Given the description of an element on the screen output the (x, y) to click on. 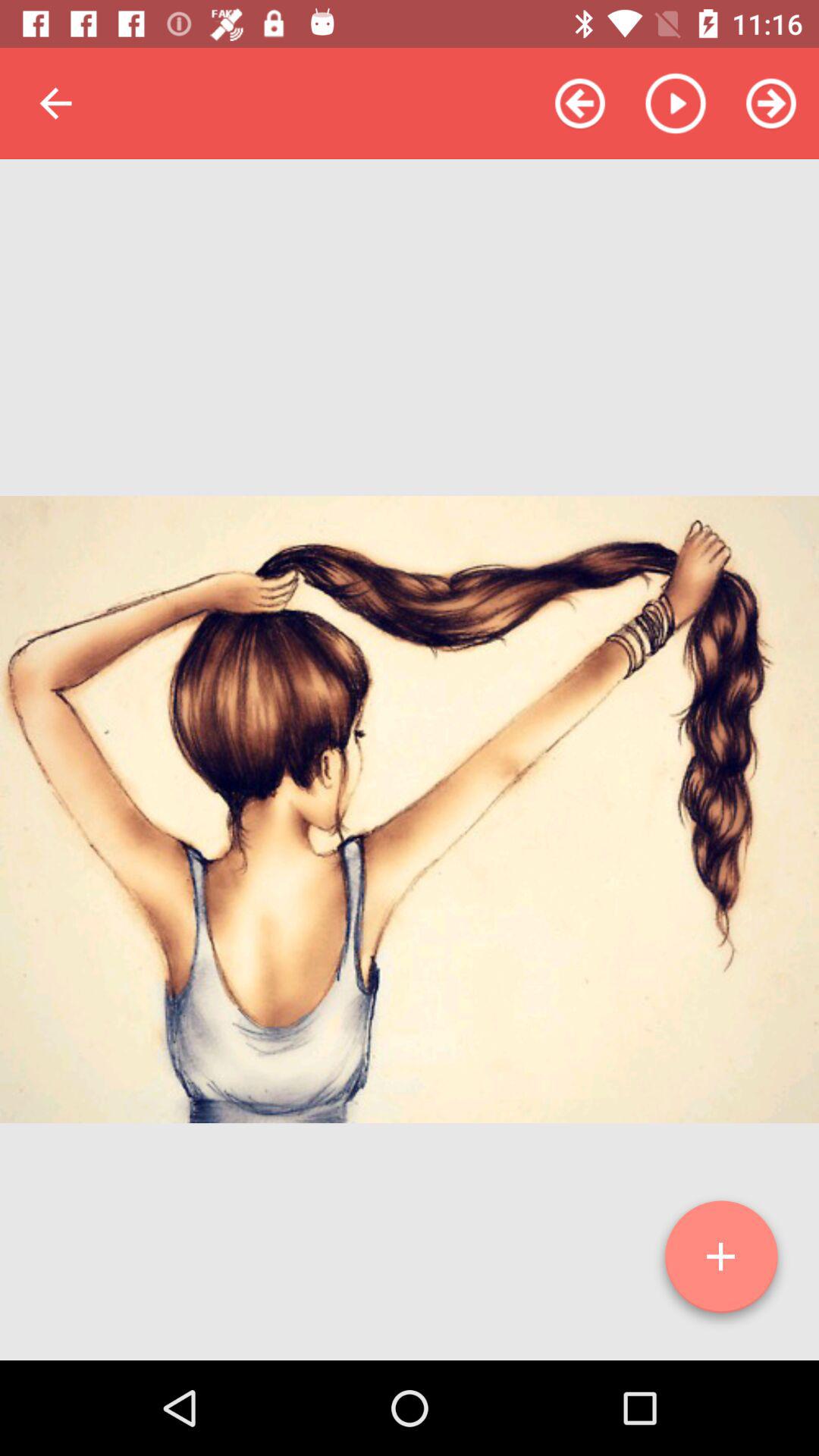
select icon at the bottom right corner (721, 1262)
